Given the description of an element on the screen output the (x, y) to click on. 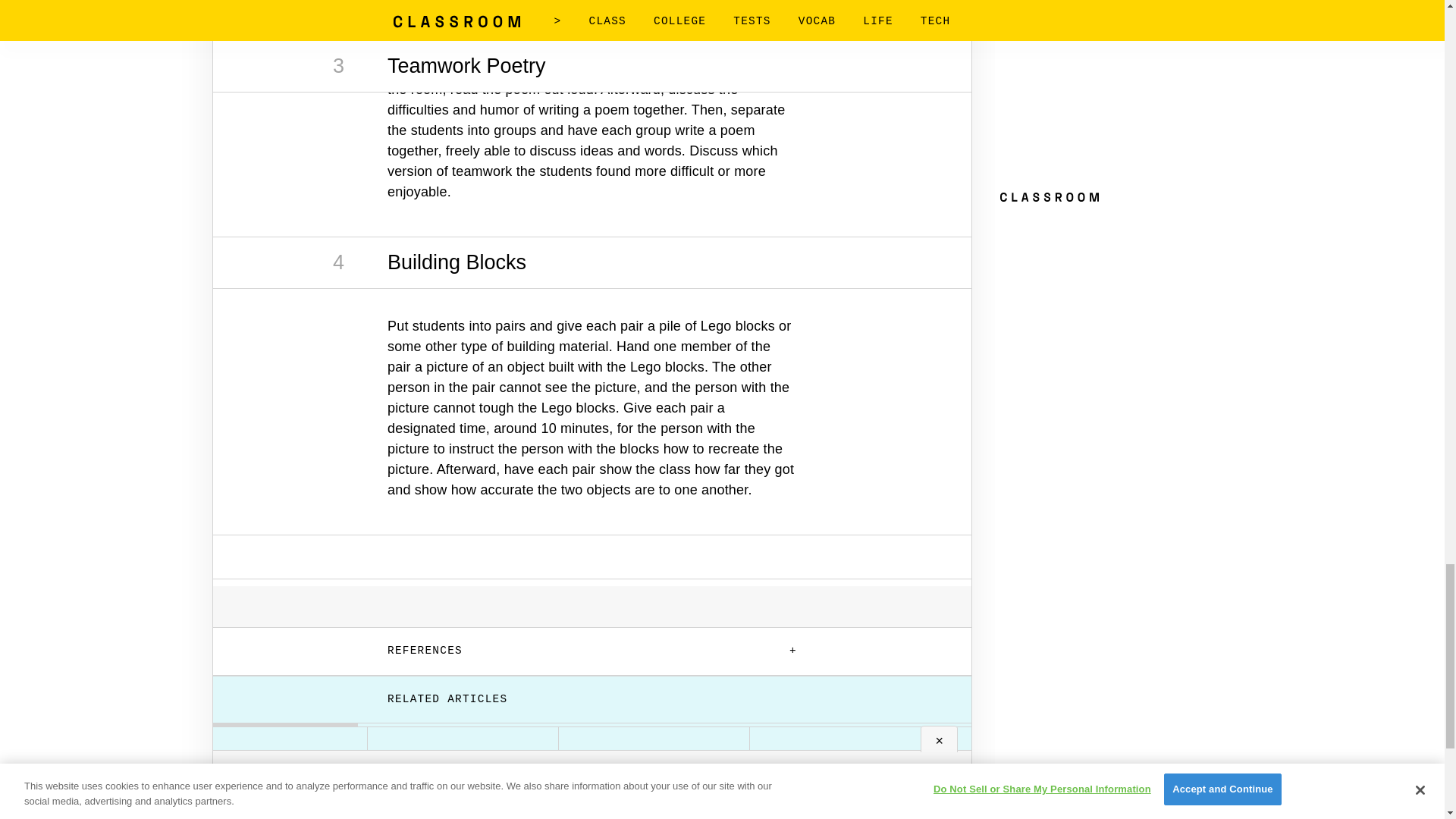
Church Banquet Games (1035, 763)
Support Group Games (1227, 755)
Indoor Team-Building Activities for Kids (654, 763)
How to Teach Gerunds (844, 763)
Team Building Activities for the Visually Impaired (462, 771)
